Given the description of an element on the screen output the (x, y) to click on. 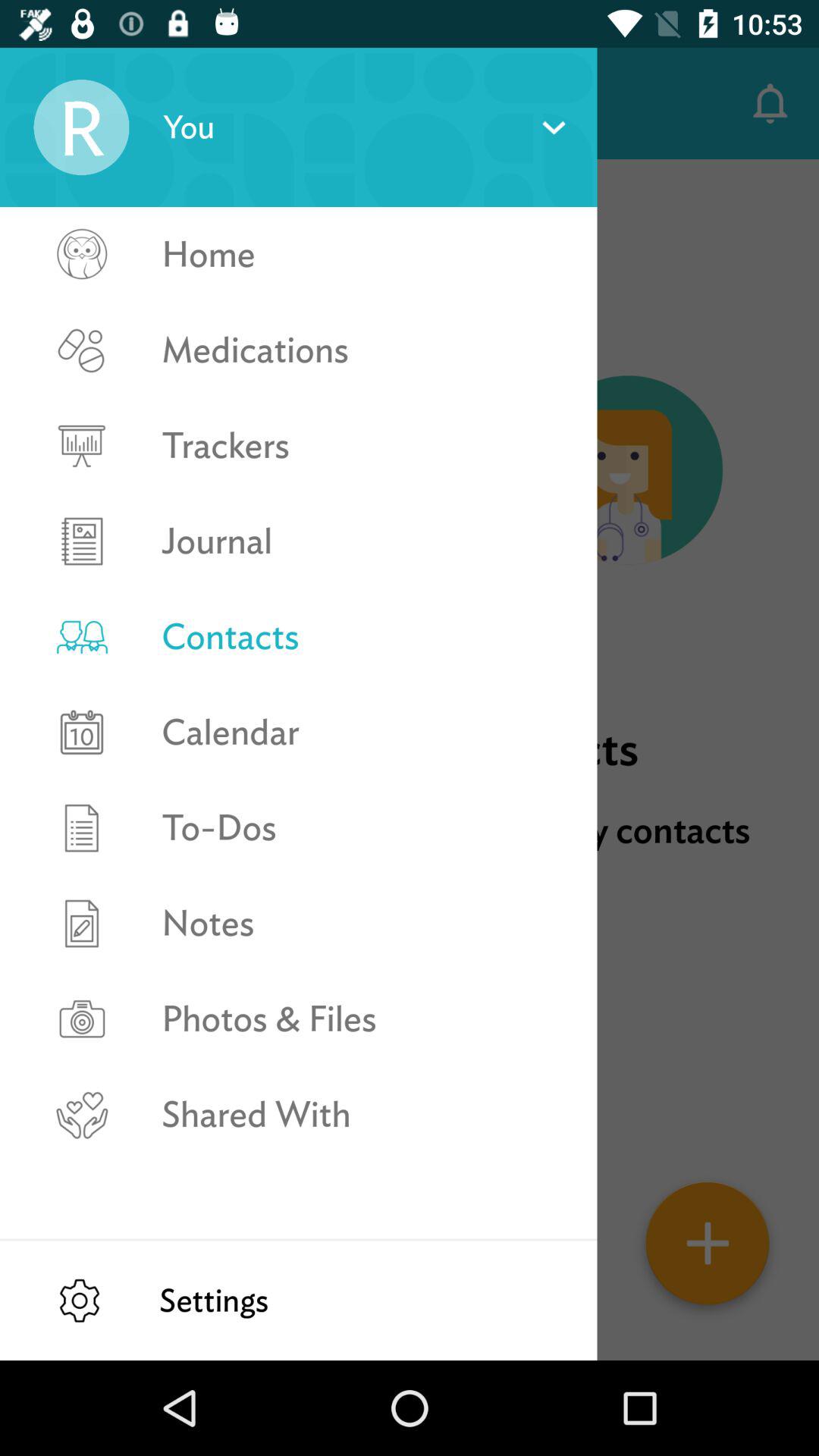
medications trackers (81, 397)
